Given the description of an element on the screen output the (x, y) to click on. 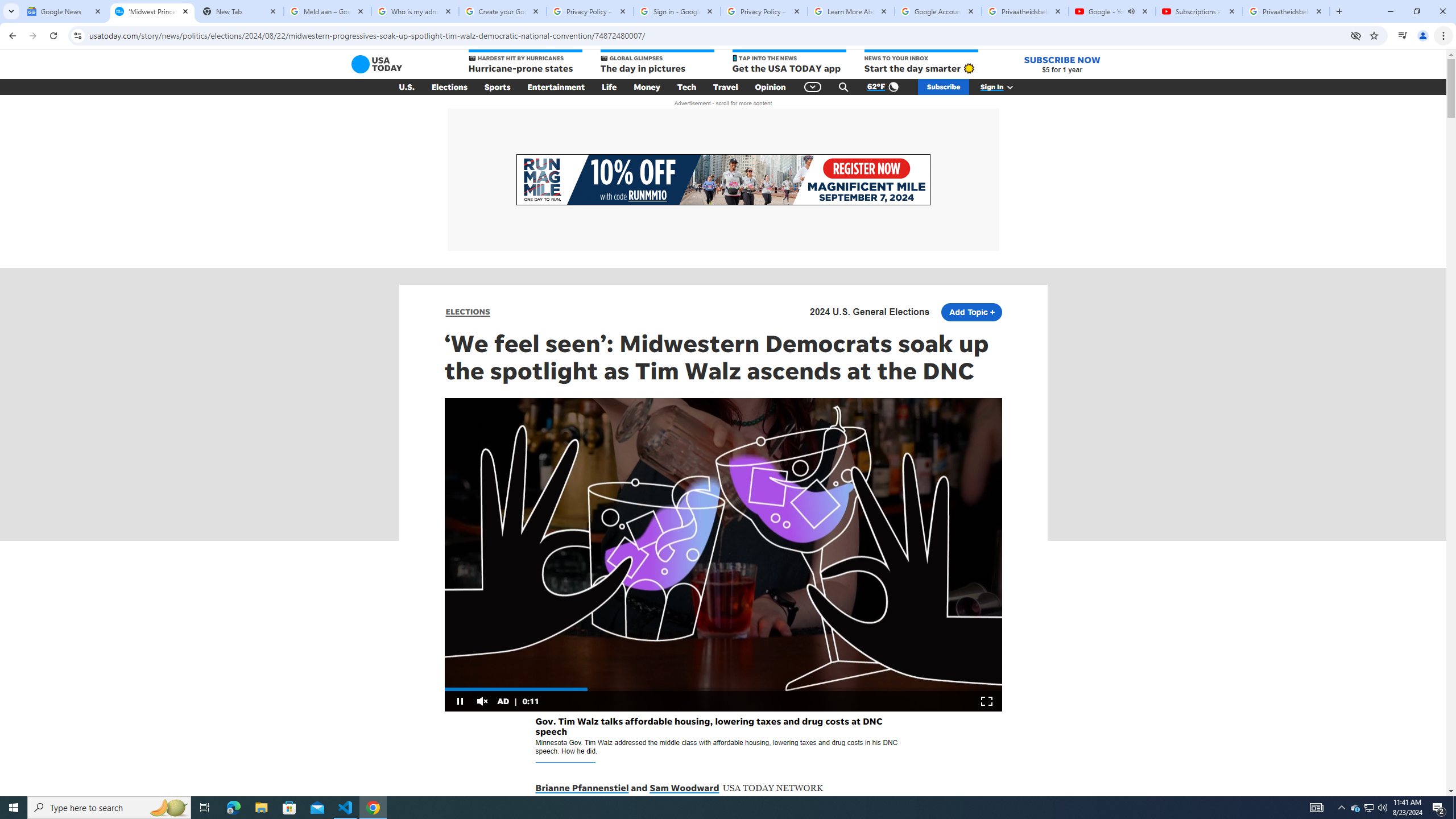
Add Topic (970, 312)
AutomationID: aw0 (722, 180)
Life (609, 87)
Mute tab (1130, 10)
U.S. (406, 87)
Money (646, 87)
